Given the description of an element on the screen output the (x, y) to click on. 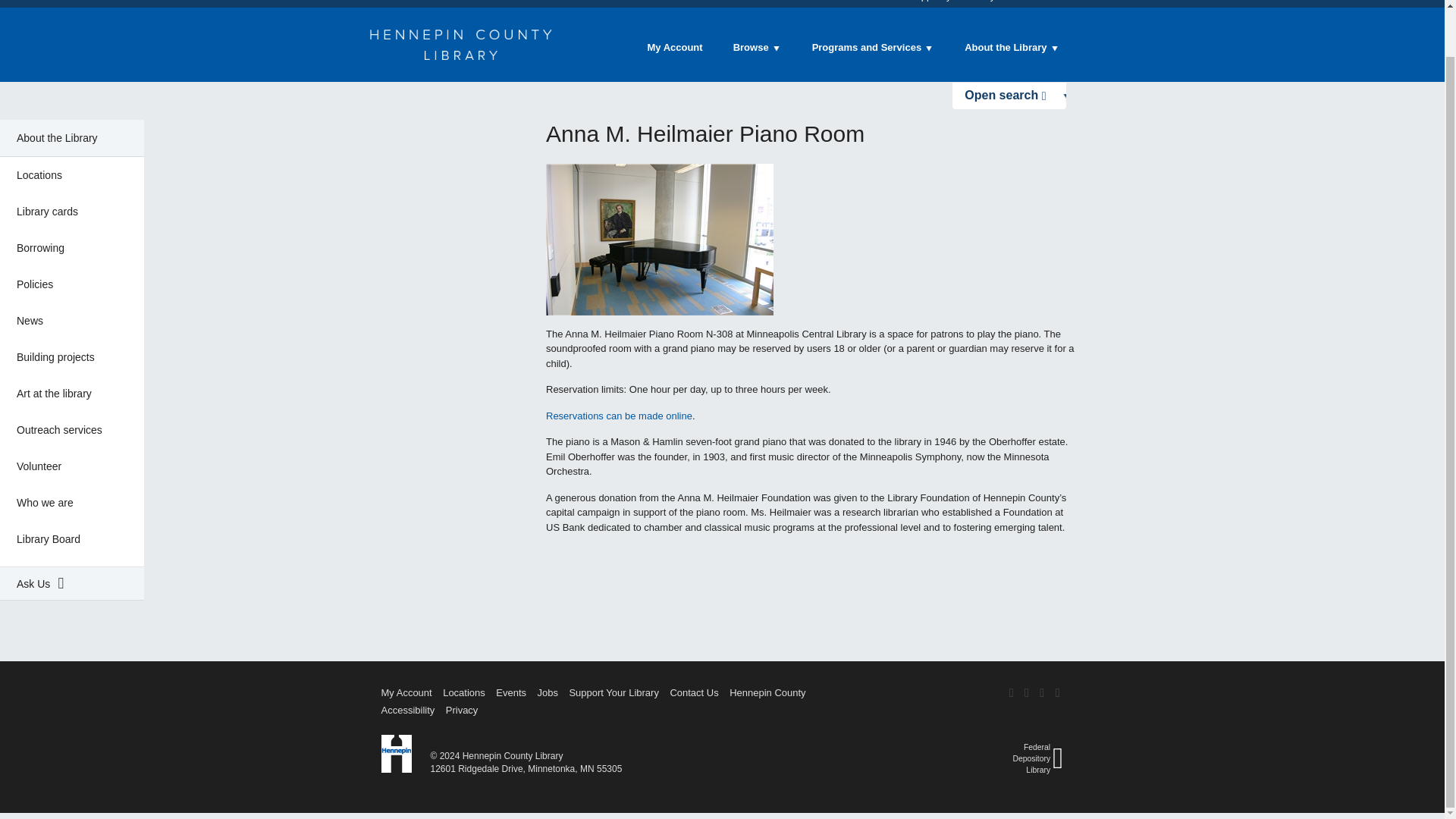
My Account (674, 47)
Ask us a question by phone, email, text, chat, or in-person (72, 583)
Programs and Services (873, 47)
About the Library (1011, 47)
Browse (757, 47)
